Given the description of an element on the screen output the (x, y) to click on. 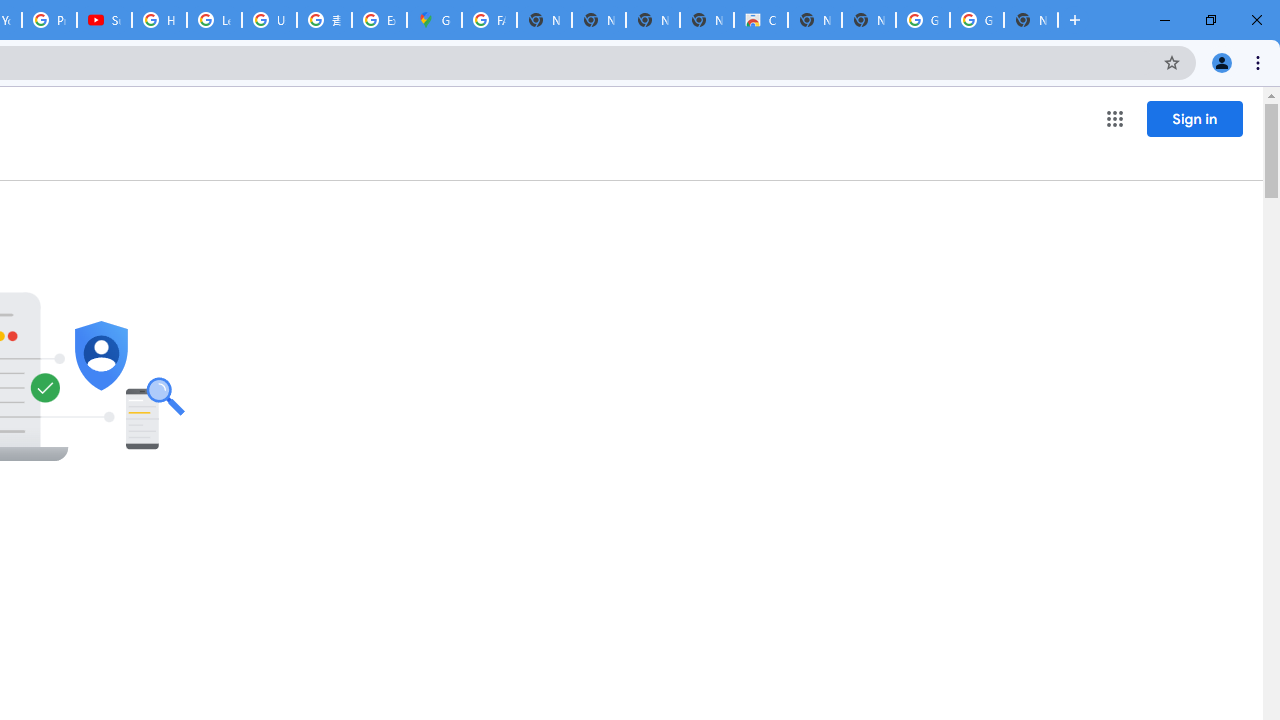
Google Maps (434, 20)
How Chrome protects your passwords - Google Chrome Help (158, 20)
New Tab (1030, 20)
Explore new street-level details - Google Maps Help (379, 20)
